Given the description of an element on the screen output the (x, y) to click on. 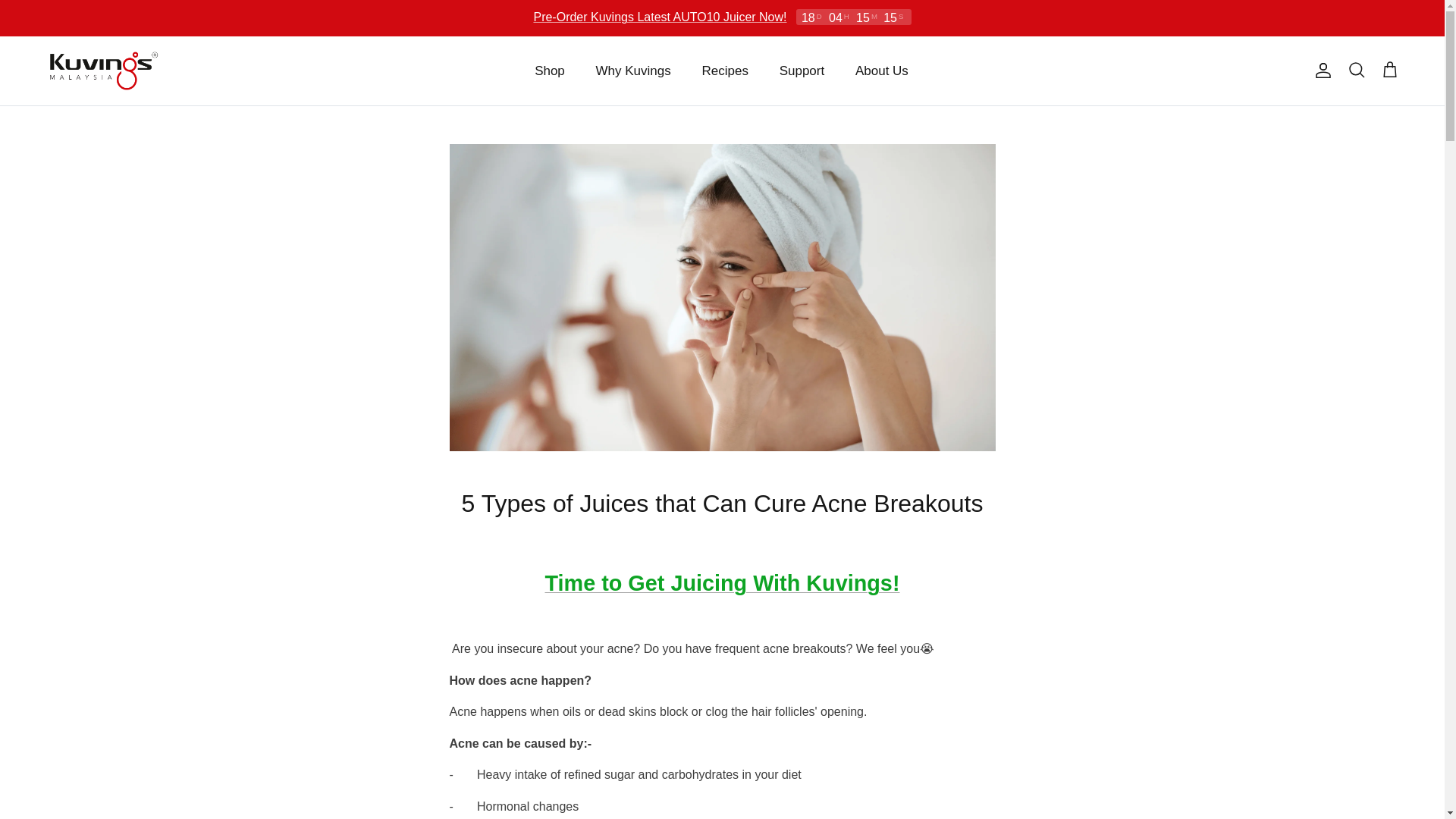
Account (1319, 70)
Pre-Order Kuvings Latest AUTO10 Juicer Now! (659, 16)
Kuvings.my (101, 70)
Recipes (724, 71)
Search (1356, 70)
Shop (549, 71)
Support (801, 71)
About Us (881, 71)
Cart (1389, 70)
Why Kuvings (633, 71)
